Given the description of an element on the screen output the (x, y) to click on. 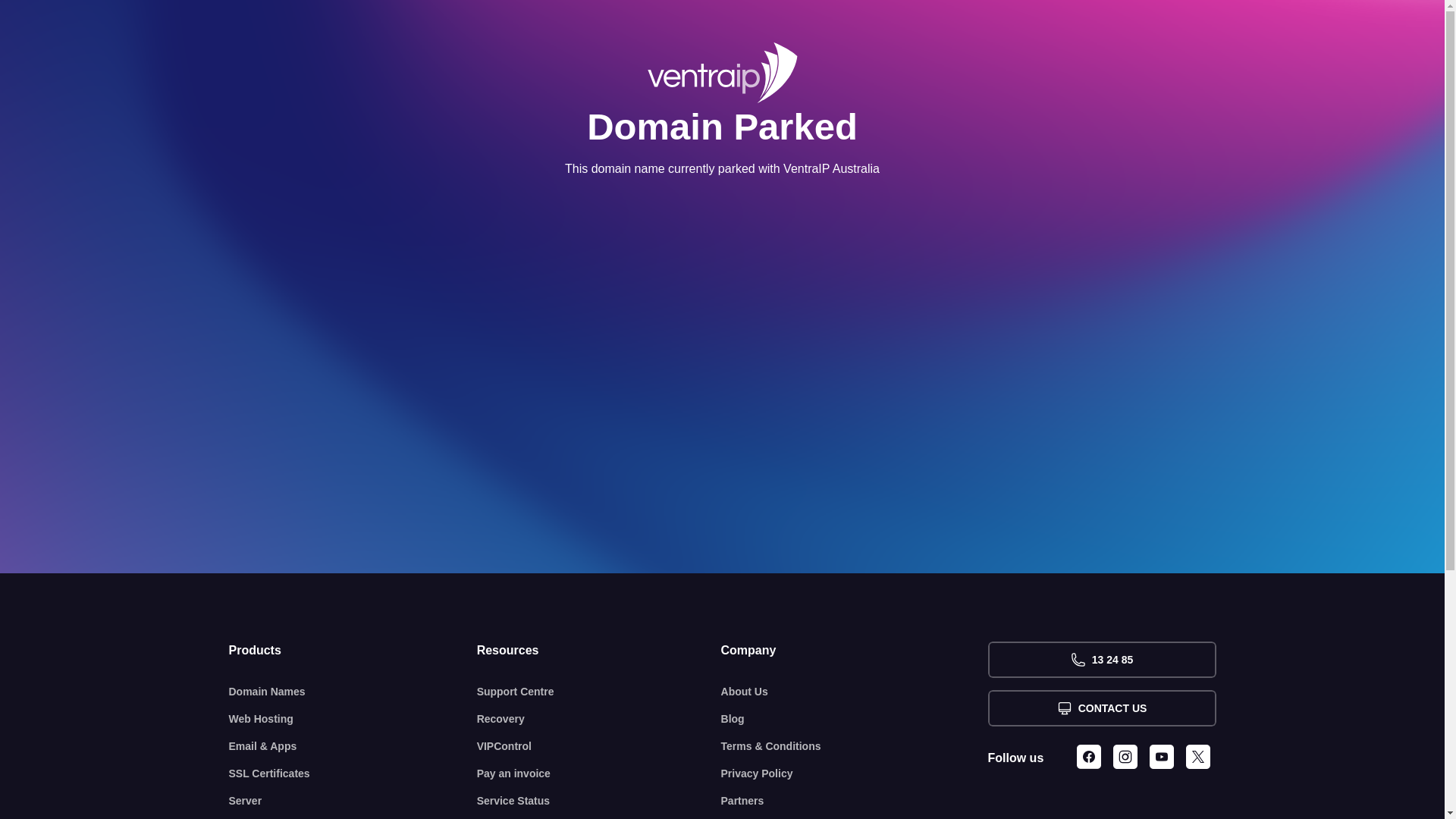
Terms & Conditions Element type: text (854, 745)
Privacy Policy Element type: text (854, 773)
Email & Apps Element type: text (352, 745)
Pay an invoice Element type: text (598, 773)
Service Status Element type: text (598, 800)
About Us Element type: text (854, 691)
Web Hosting Element type: text (352, 718)
Recovery Element type: text (598, 718)
13 24 85 Element type: text (1101, 659)
VIPControl Element type: text (598, 745)
Domain Names Element type: text (352, 691)
CONTACT US Element type: text (1101, 708)
Server Element type: text (352, 800)
Support Centre Element type: text (598, 691)
Blog Element type: text (854, 718)
Partners Element type: text (854, 800)
SSL Certificates Element type: text (352, 773)
